Given the description of an element on the screen output the (x, y) to click on. 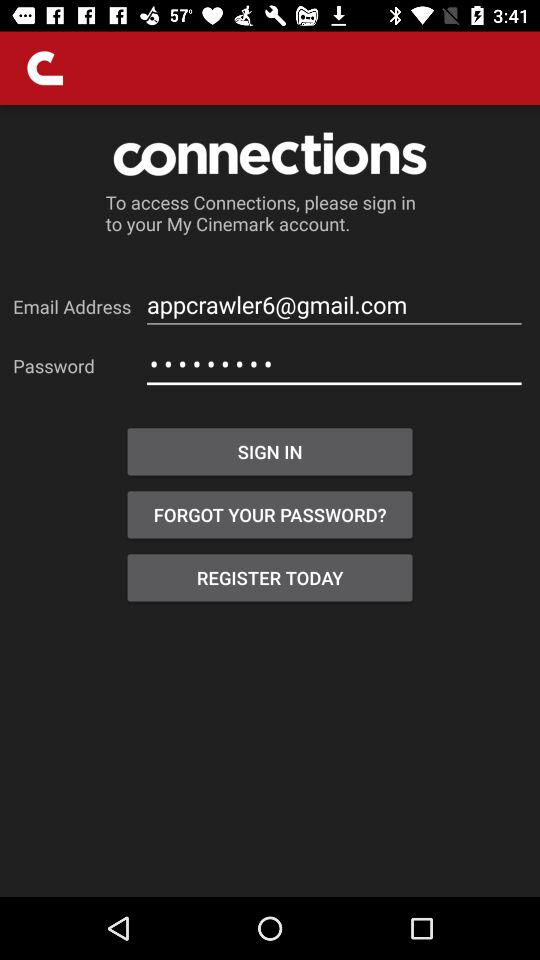
launch item below the sign in (269, 514)
